Given the description of an element on the screen output the (x, y) to click on. 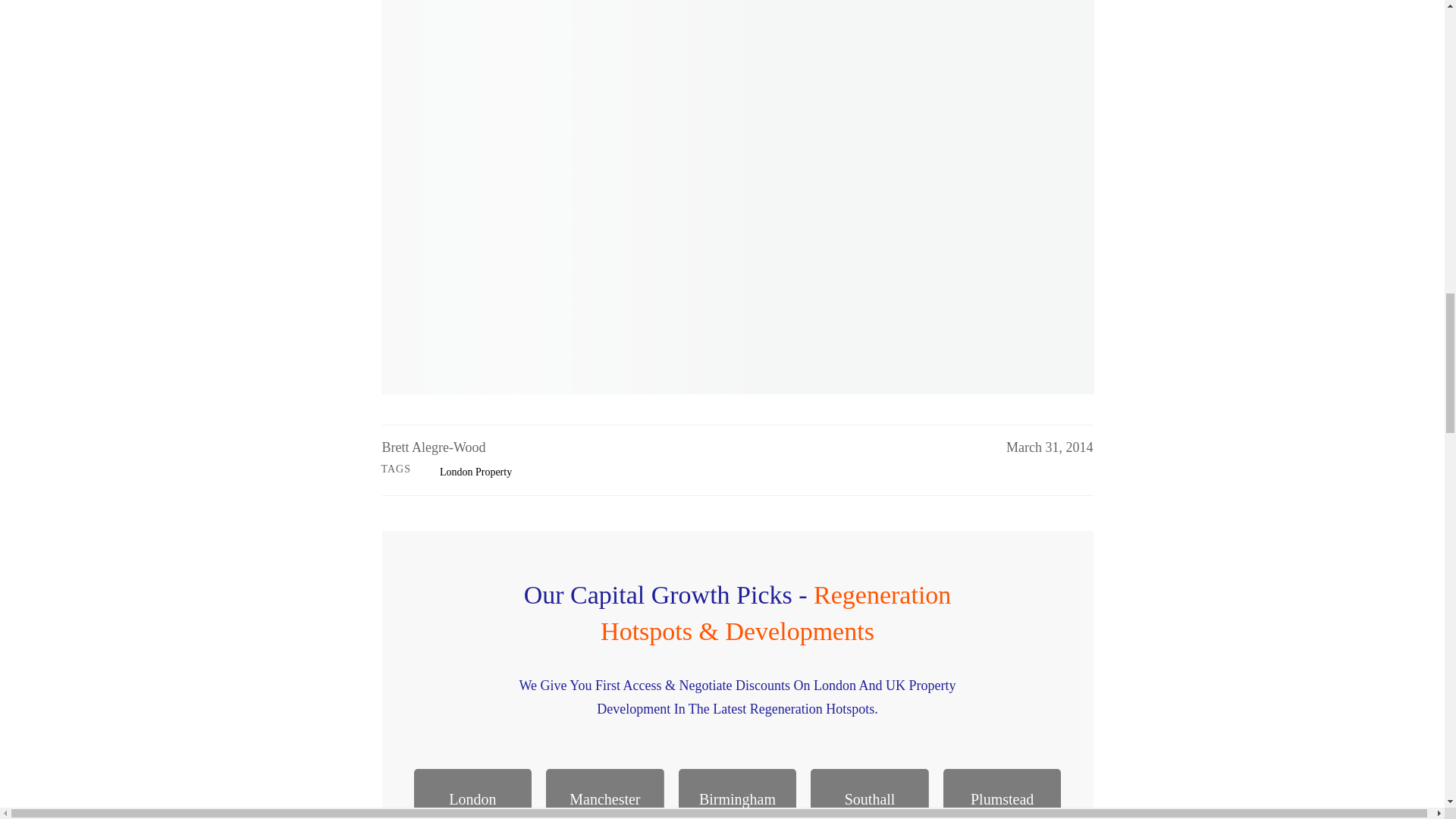
London Property (475, 471)
London Property (475, 471)
